Given the description of an element on the screen output the (x, y) to click on. 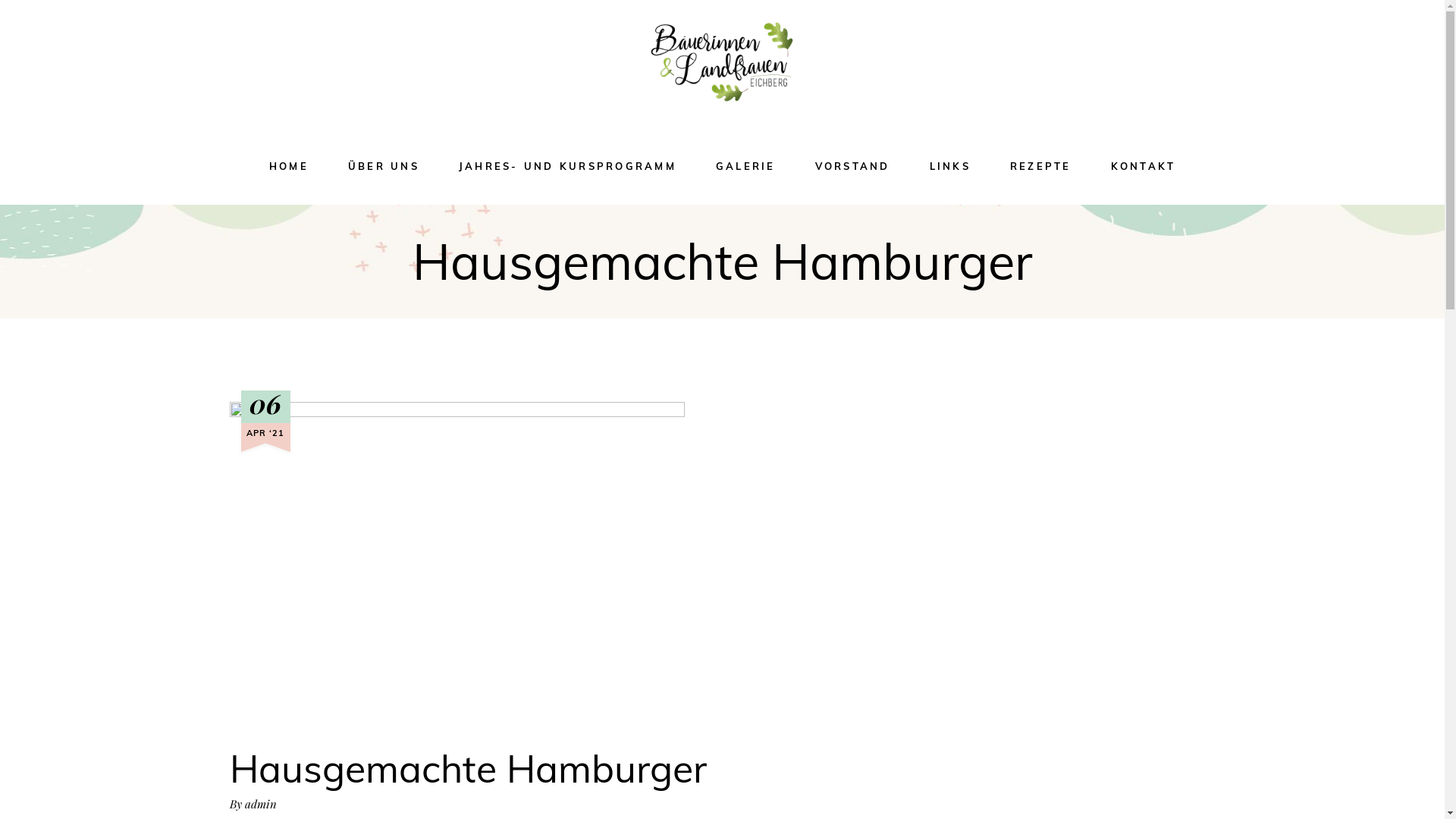
REZEPTE Element type: text (1040, 166)
JAHRES- UND KURSPROGRAMM Element type: text (567, 166)
admin Element type: text (260, 803)
GALERIE Element type: text (745, 166)
KONTAKT Element type: text (1142, 166)
LINKS Element type: text (950, 166)
VORSTAND Element type: text (851, 166)
HOME Element type: text (288, 166)
